Given the description of an element on the screen output the (x, y) to click on. 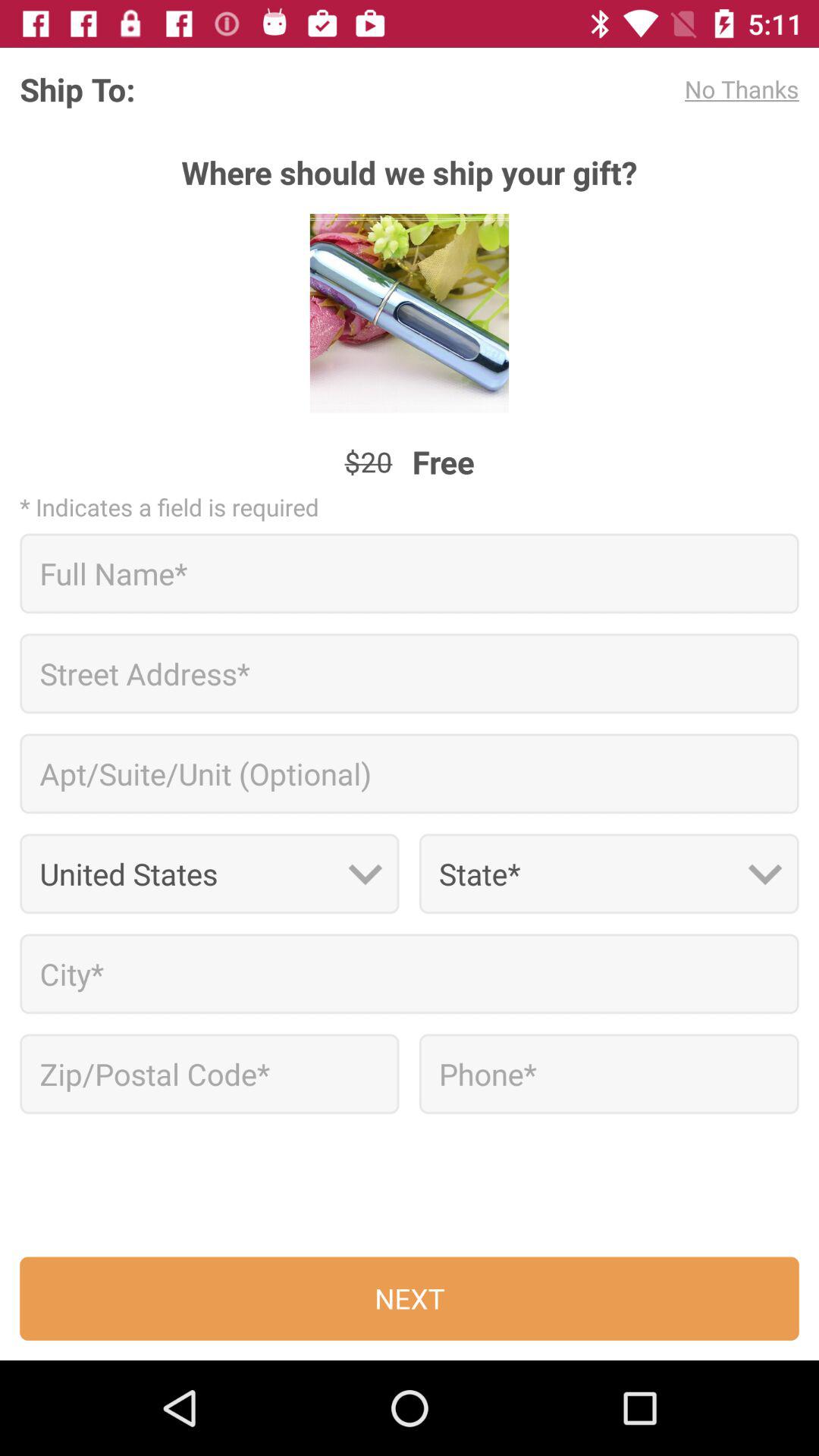
go to street address (409, 673)
